Given the description of an element on the screen output the (x, y) to click on. 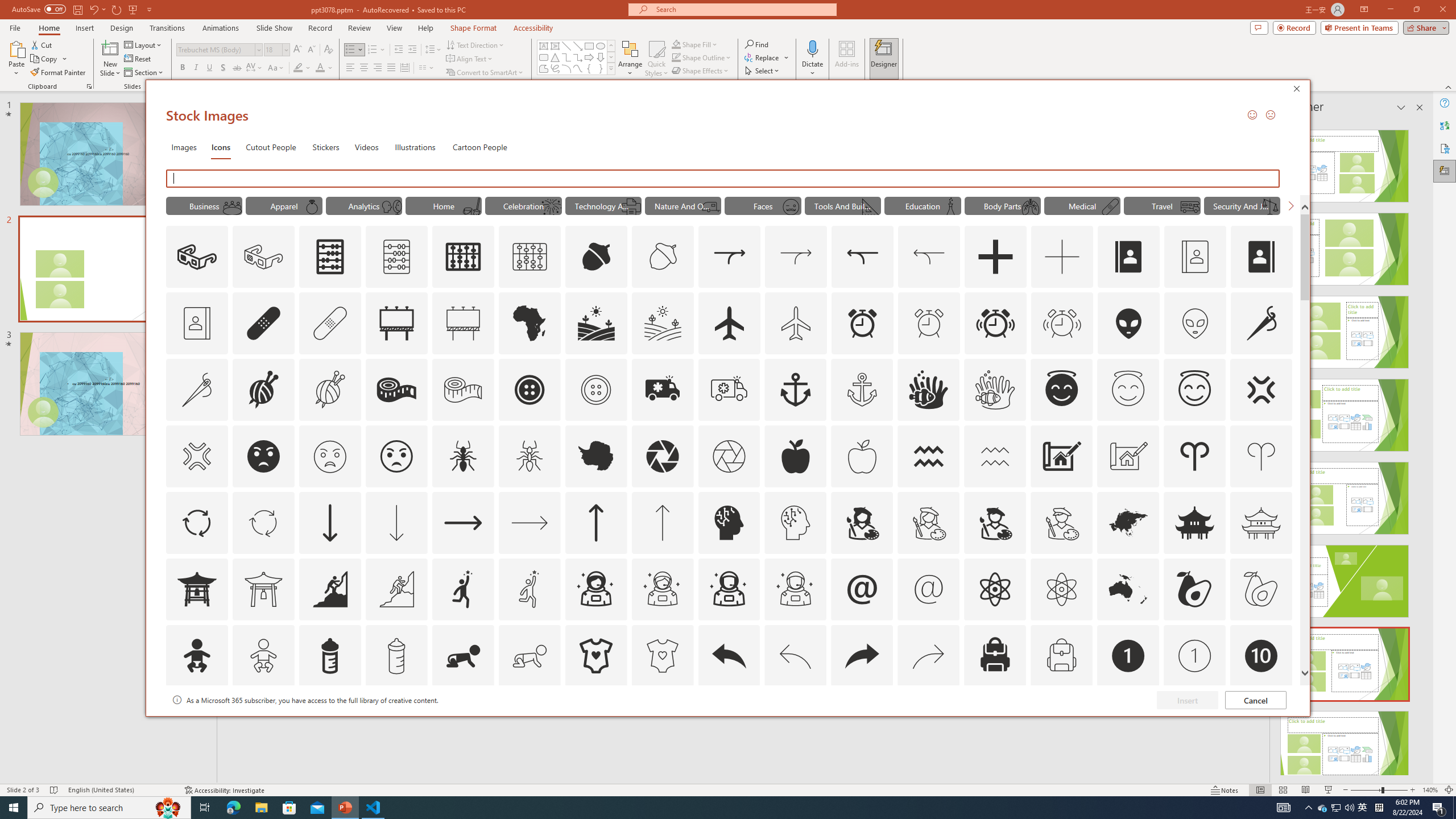
AutomationID: Icons_ArrowUp_M (662, 522)
Shadow (223, 67)
AutomationID: Icons_AstronautFemale (595, 588)
